Given the description of an element on the screen output the (x, y) to click on. 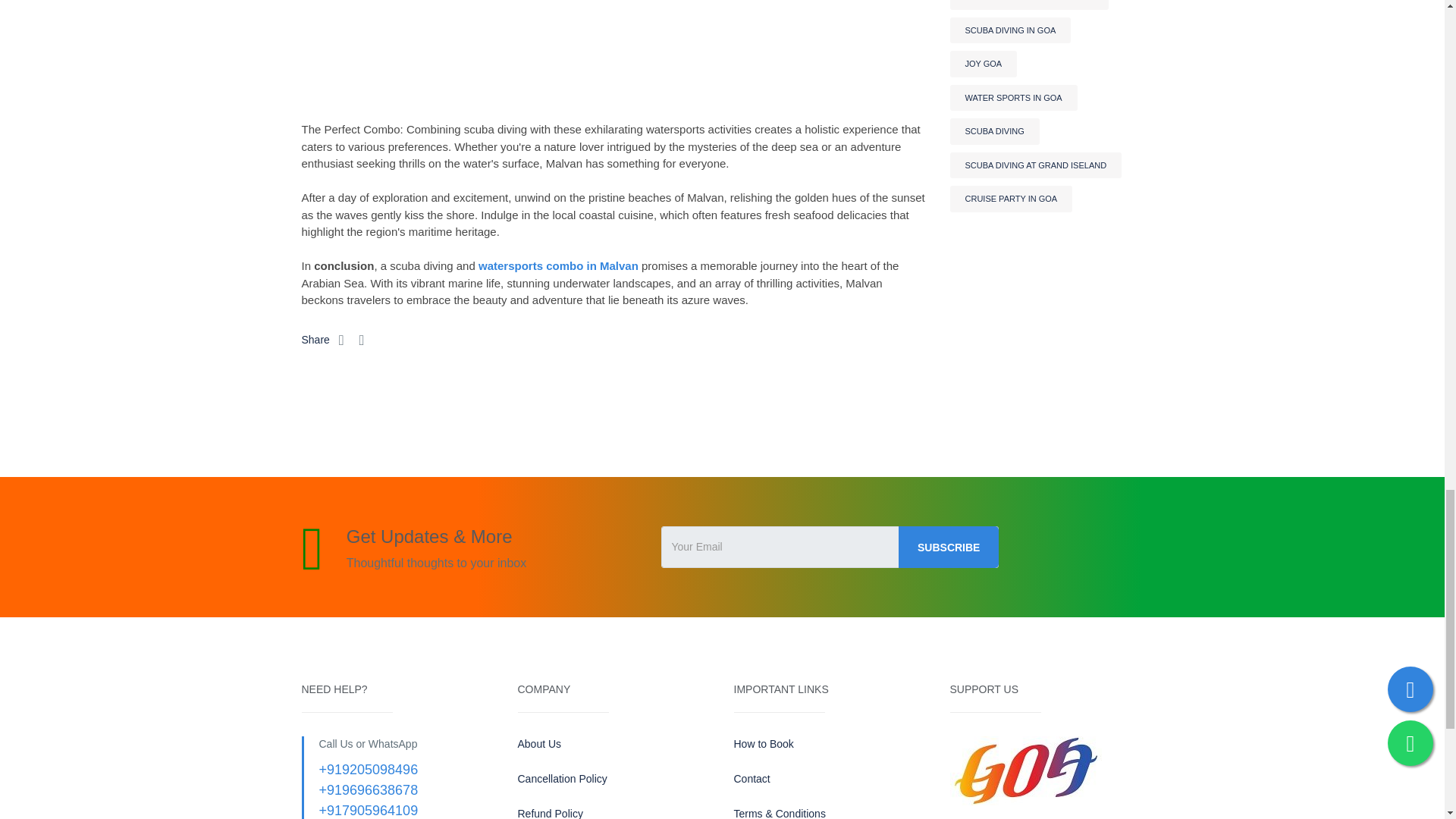
watersports combo in Malvan (559, 265)
